Given the description of an element on the screen output the (x, y) to click on. 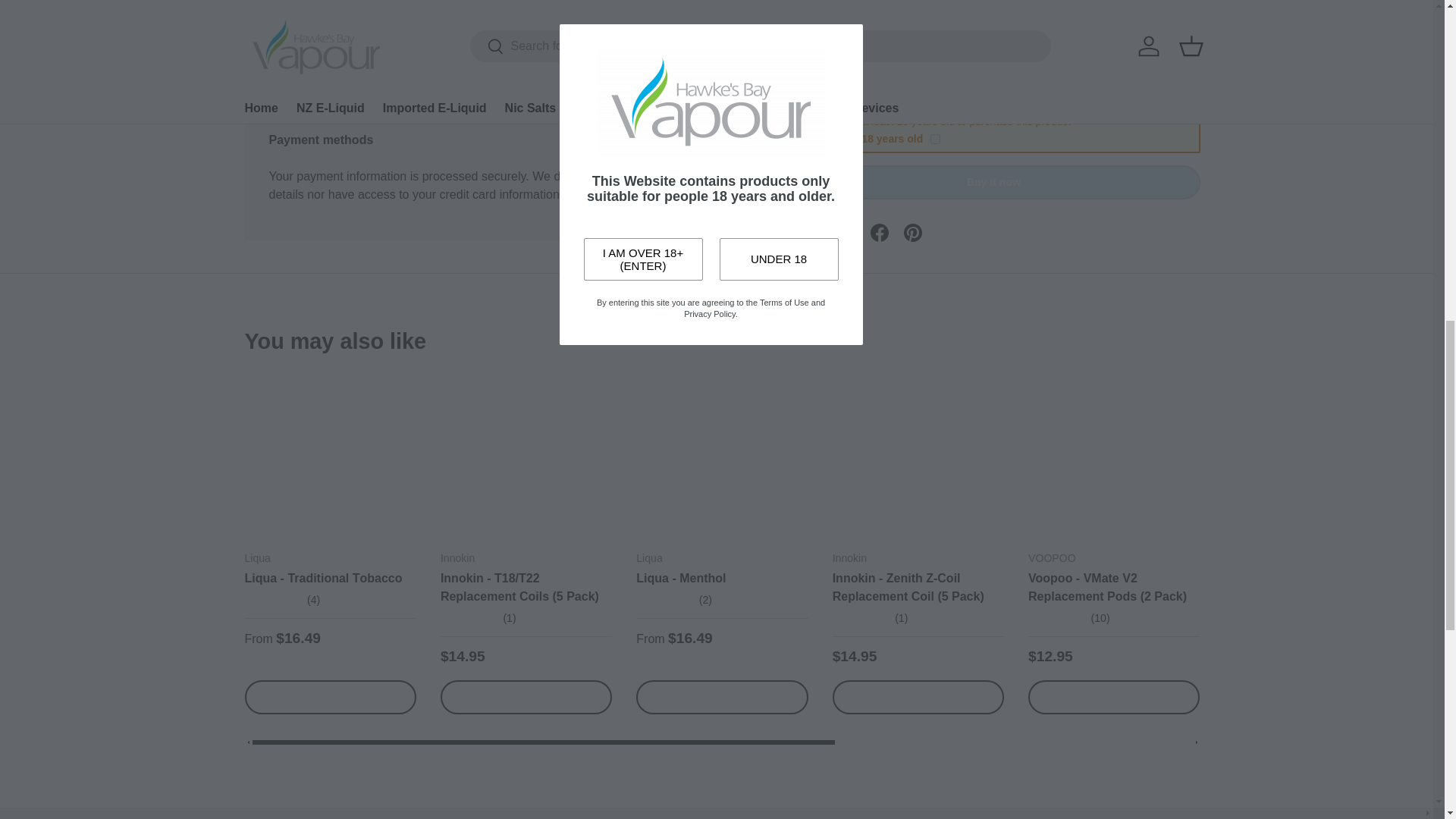
Tweet on X (846, 32)
Share on Facebook (879, 32)
Pin on Pinterest (913, 32)
Choose options (329, 697)
